Given the description of an element on the screen output the (x, y) to click on. 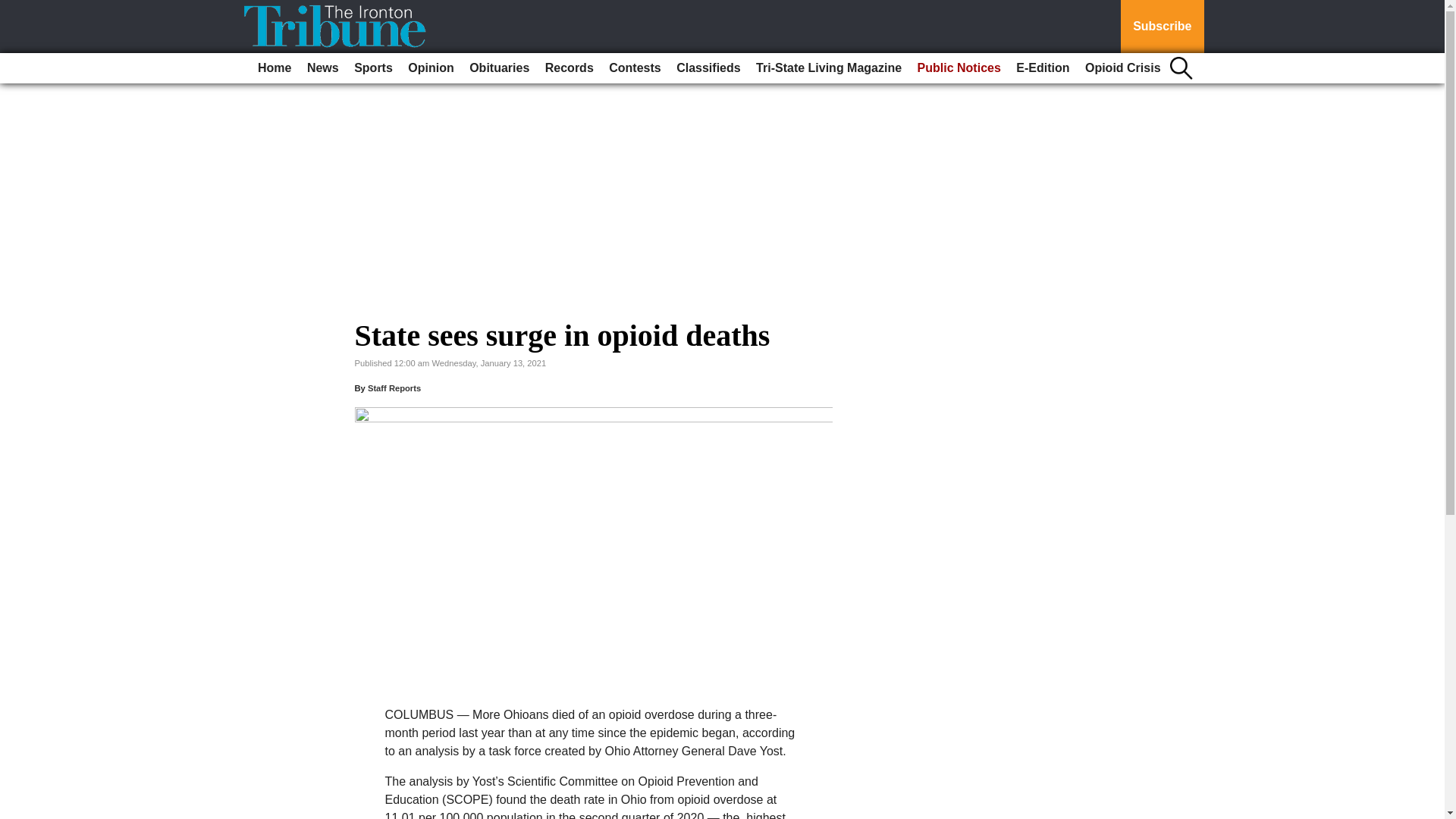
Subscribe (1162, 26)
E-Edition (1042, 68)
Contests (634, 68)
Opioid Crisis (1122, 68)
Records (568, 68)
Sports (372, 68)
Obituaries (499, 68)
Opinion (430, 68)
Staff Reports (394, 388)
Tri-State Living Magazine (828, 68)
